Given the description of an element on the screen output the (x, y) to click on. 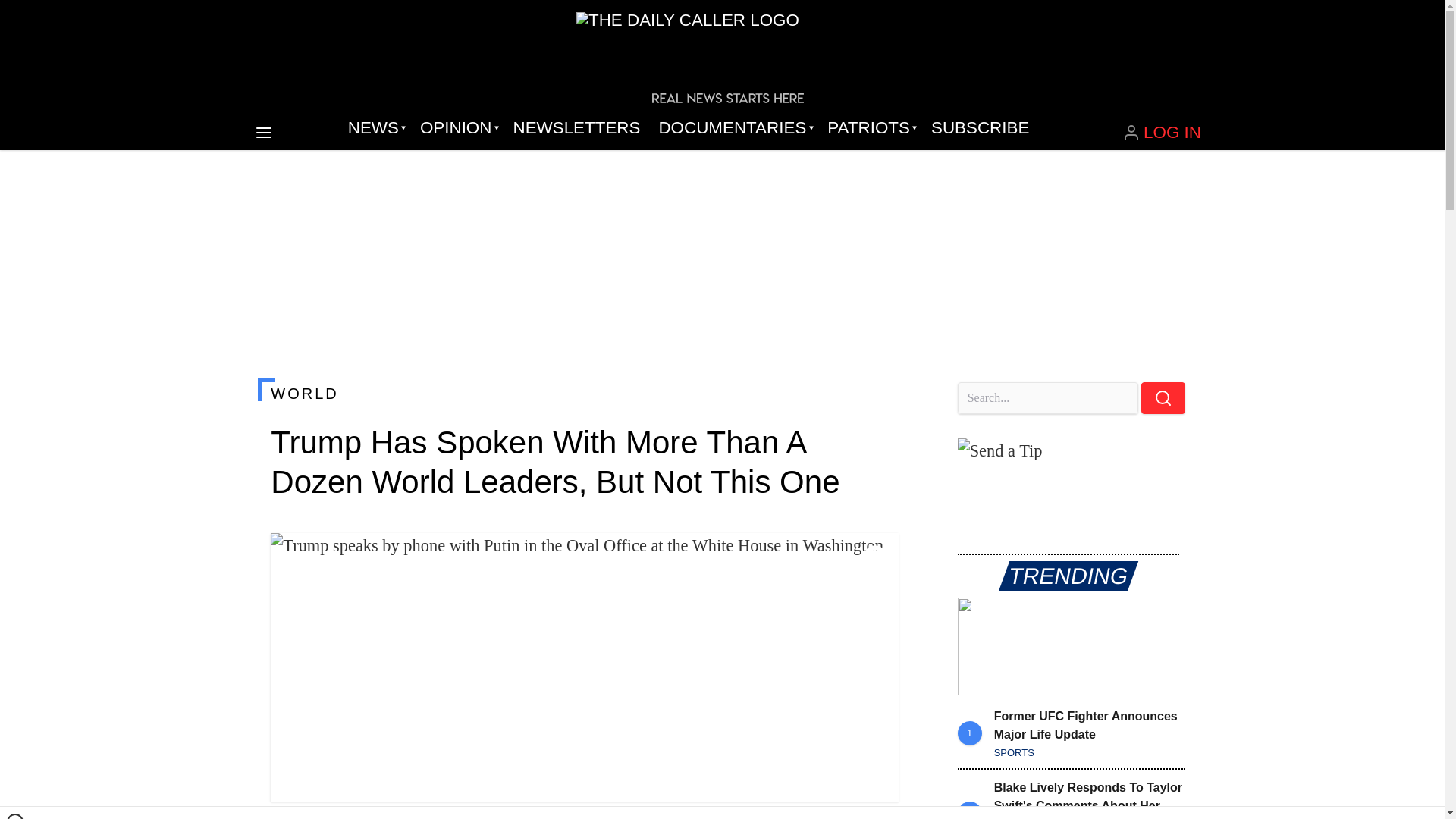
PATRIOTS (869, 127)
Close window (14, 816)
DOCUMENTARIES (733, 127)
Former UFC Fighter Announces Major Life Update (1071, 646)
SUBSCRIBE (979, 127)
OPINION (456, 127)
NEWSLETTERS (576, 127)
Toggle fullscreen (874, 556)
NEWS (374, 127)
WORLD (584, 393)
